Given the description of an element on the screen output the (x, y) to click on. 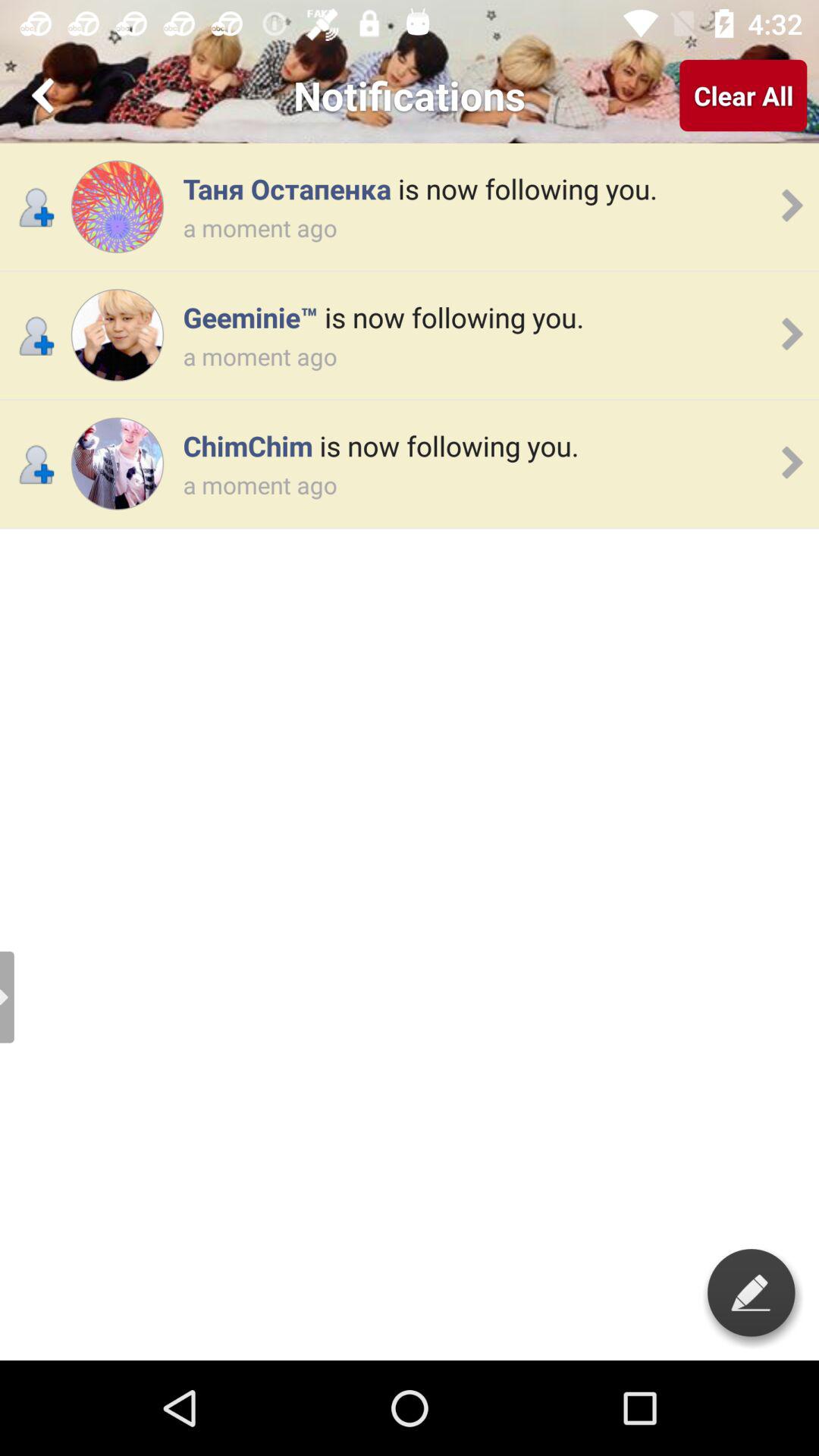
write a message (751, 1292)
